Given the description of an element on the screen output the (x, y) to click on. 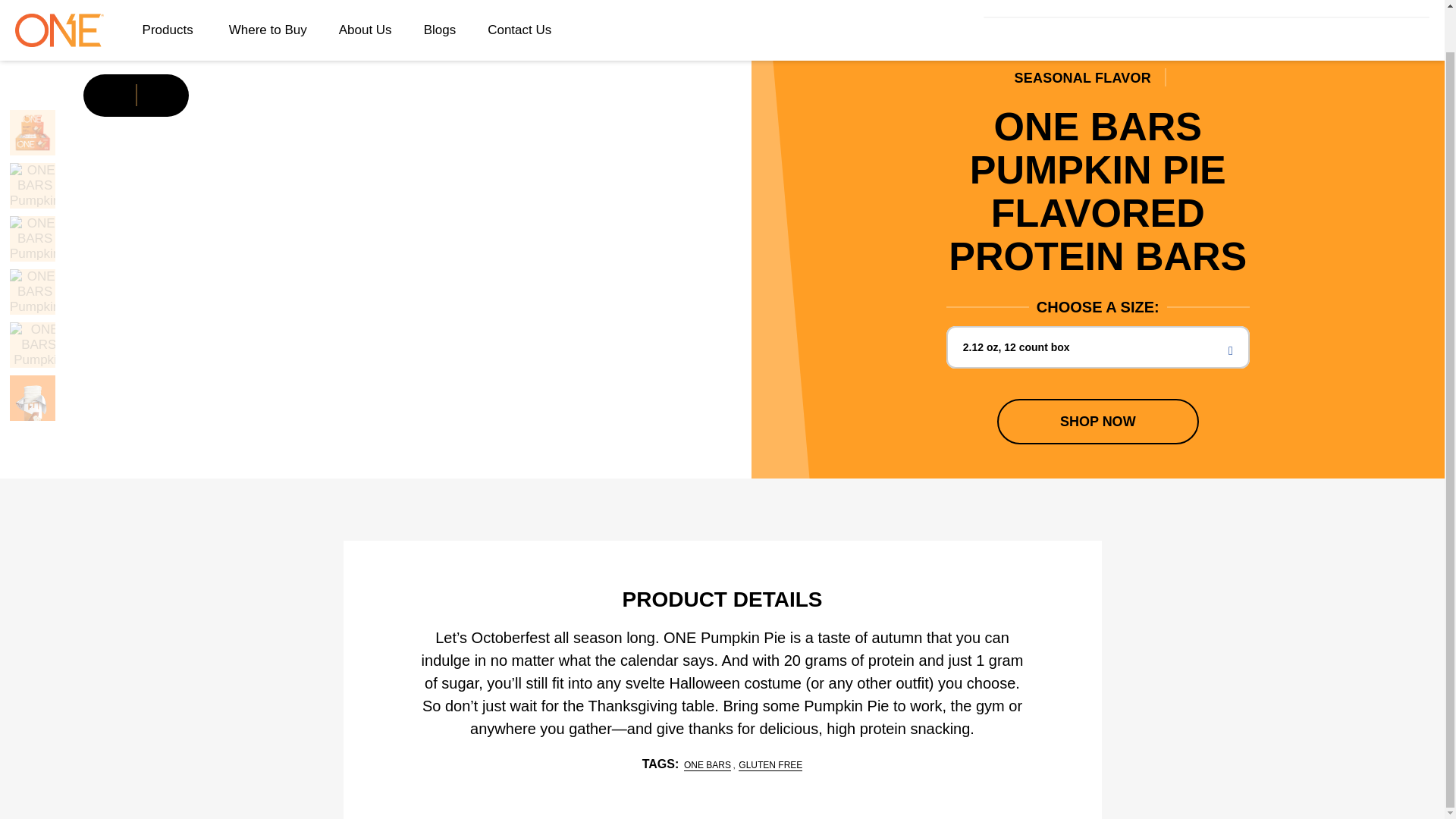
SHOP NOW (1097, 421)
